Given the description of an element on the screen output the (x, y) to click on. 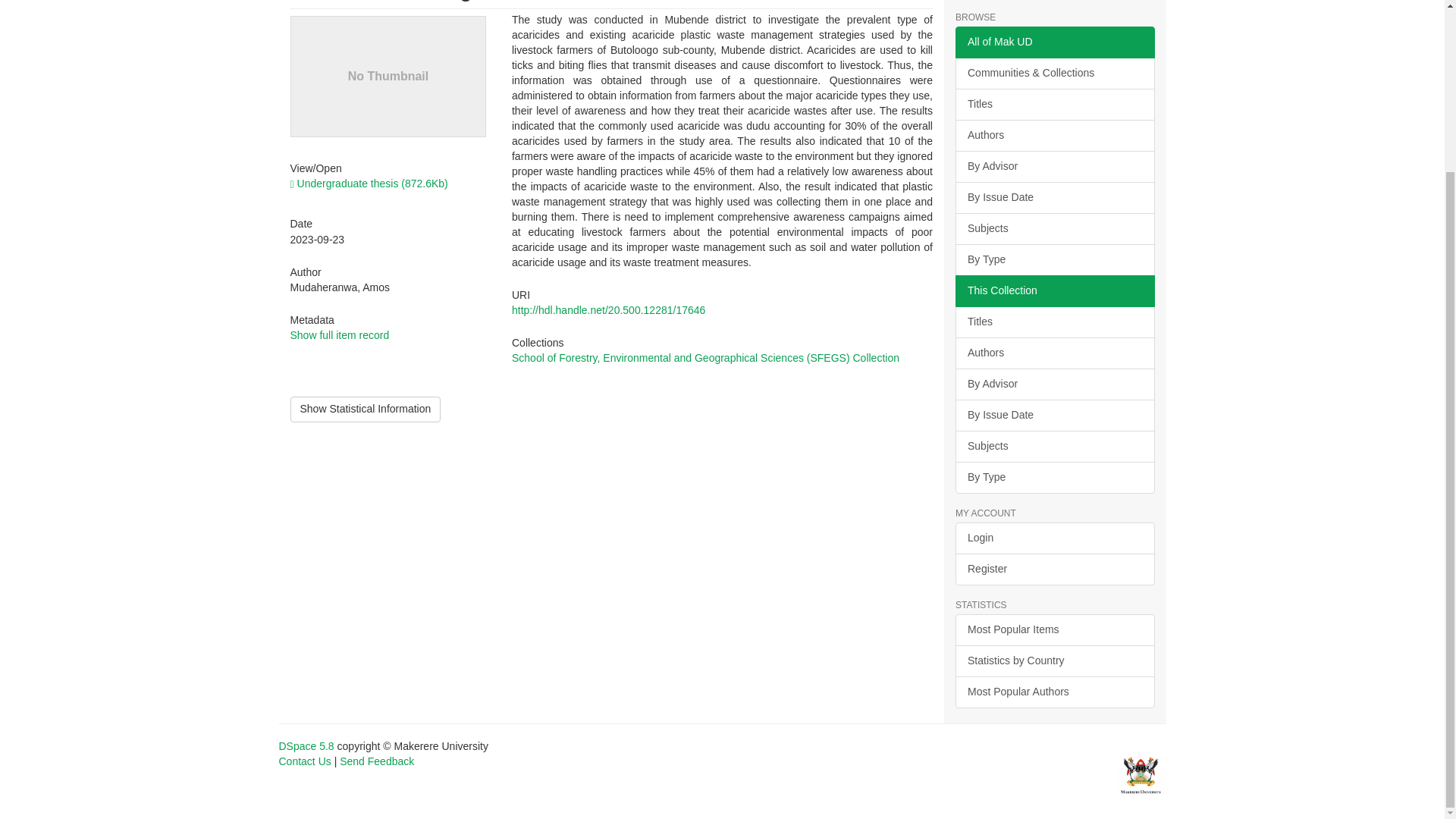
All of Mak UD (1054, 42)
This Collection (1054, 291)
Authors (1054, 135)
Titles (1054, 104)
Show Statistical Information (365, 409)
By Issue Date (1054, 415)
By Advisor (1054, 384)
Titles (1054, 322)
Authors (1054, 353)
Show full item record (338, 335)
